Given the description of an element on the screen output the (x, y) to click on. 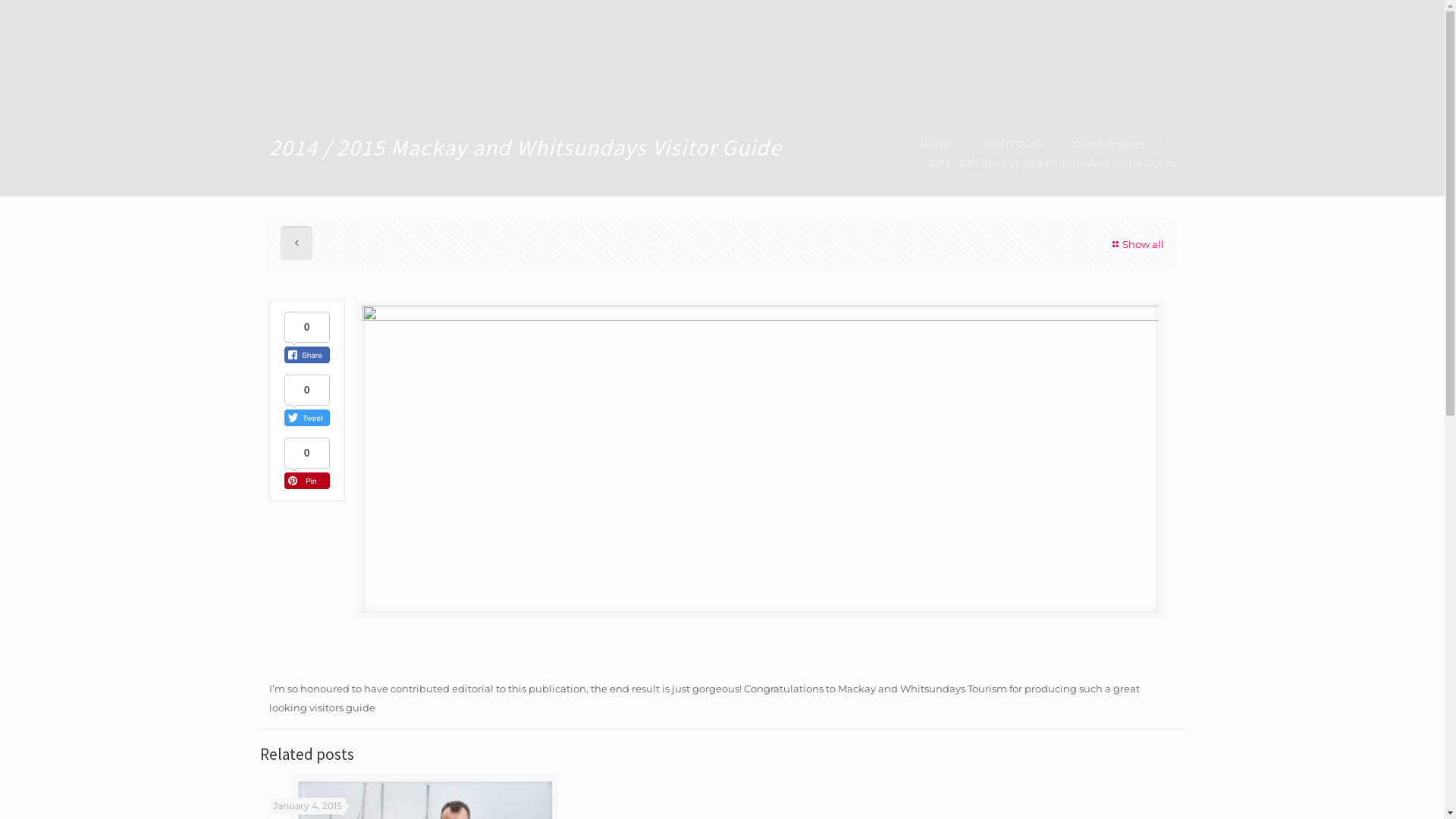
Home Element type: text (935, 144)
Show all Element type: text (1136, 244)
PORTFOLIO Element type: text (1011, 144)
2014 / 2015 Mackay and Whitsundays Visitor Guide Element type: text (1051, 162)
Client Projects Element type: text (1108, 144)
